Given the description of an element on the screen output the (x, y) to click on. 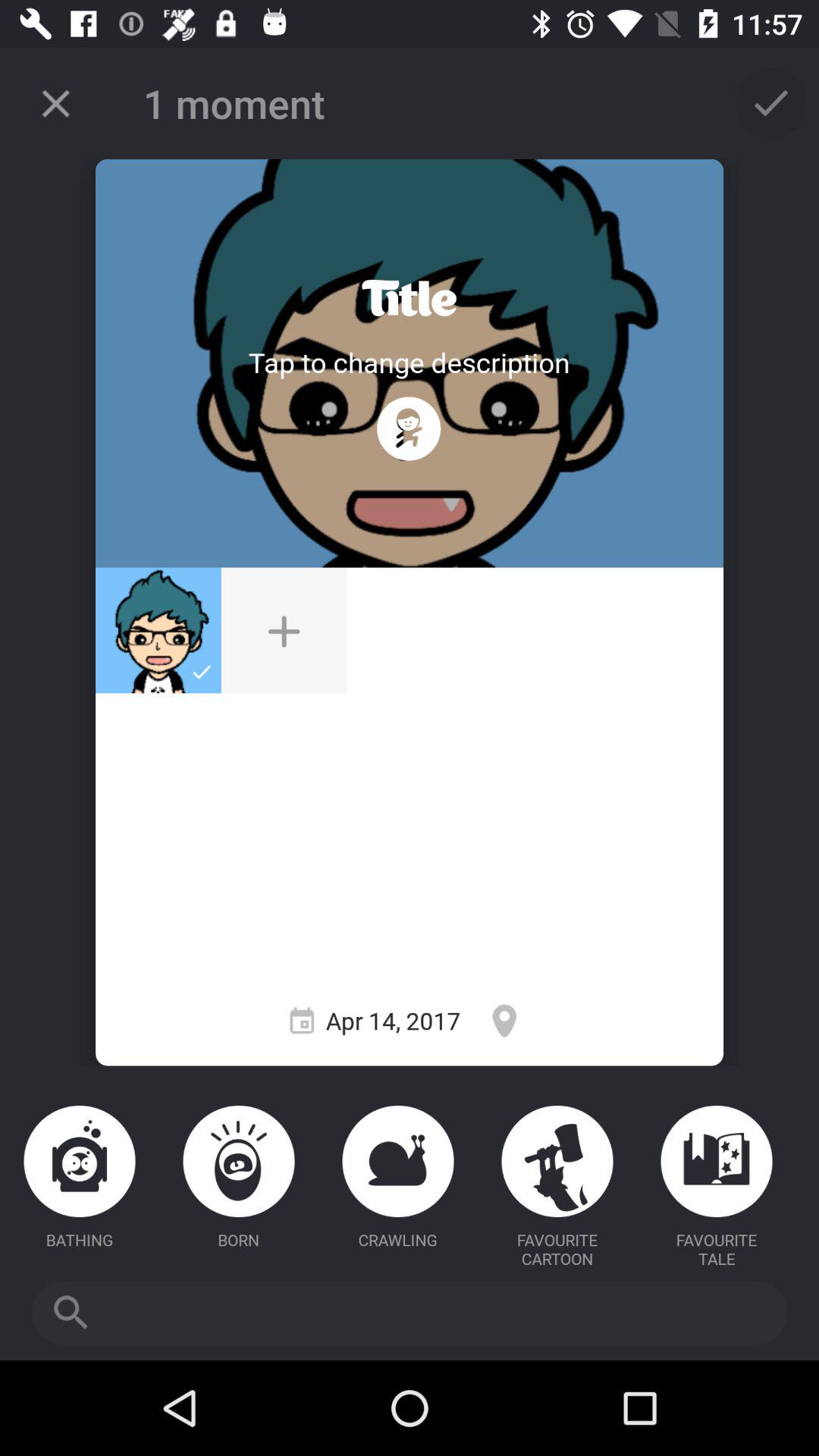
tap to select (771, 103)
